Given the description of an element on the screen output the (x, y) to click on. 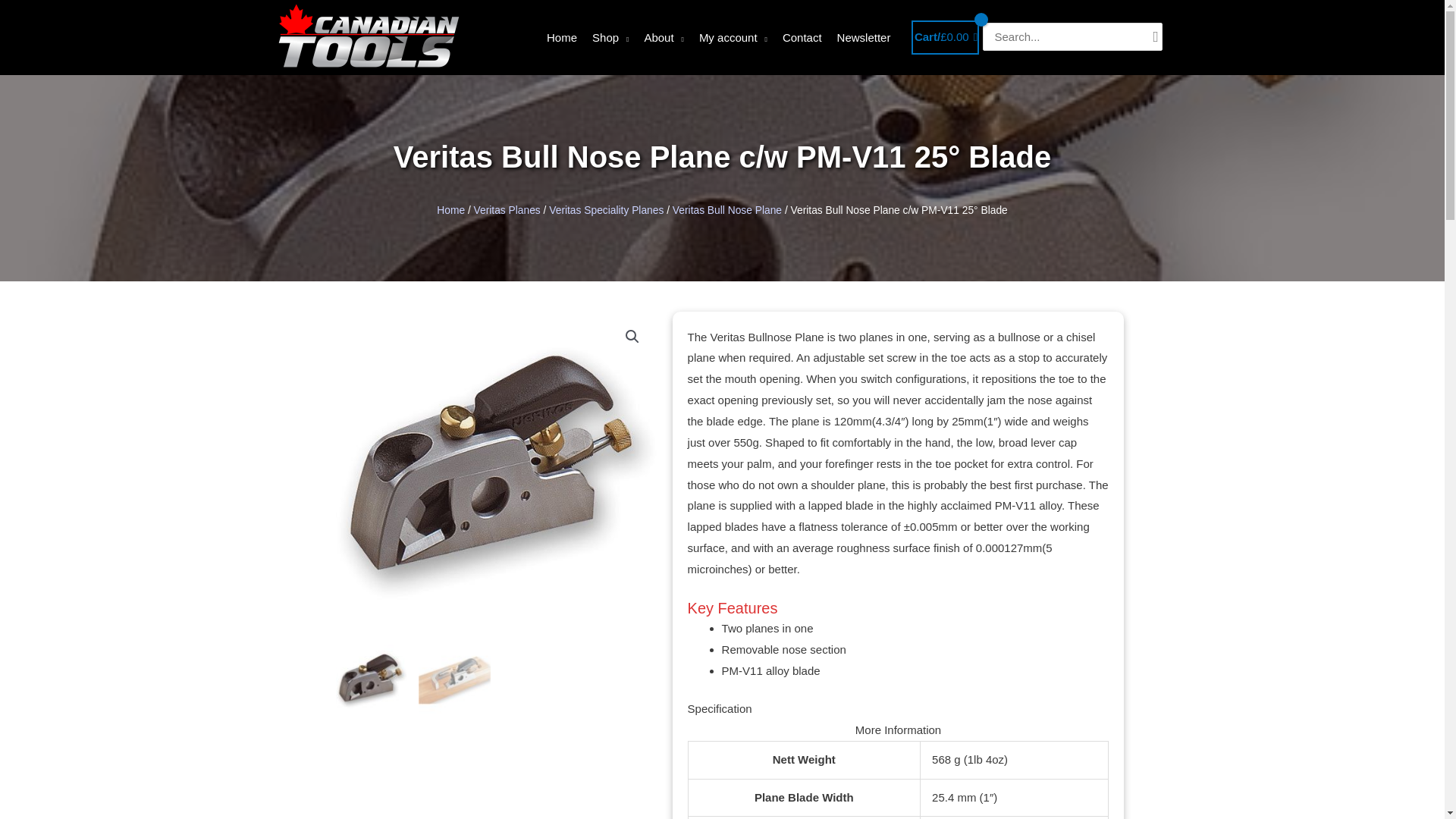
My account (732, 37)
